Given the description of an element on the screen output the (x, y) to click on. 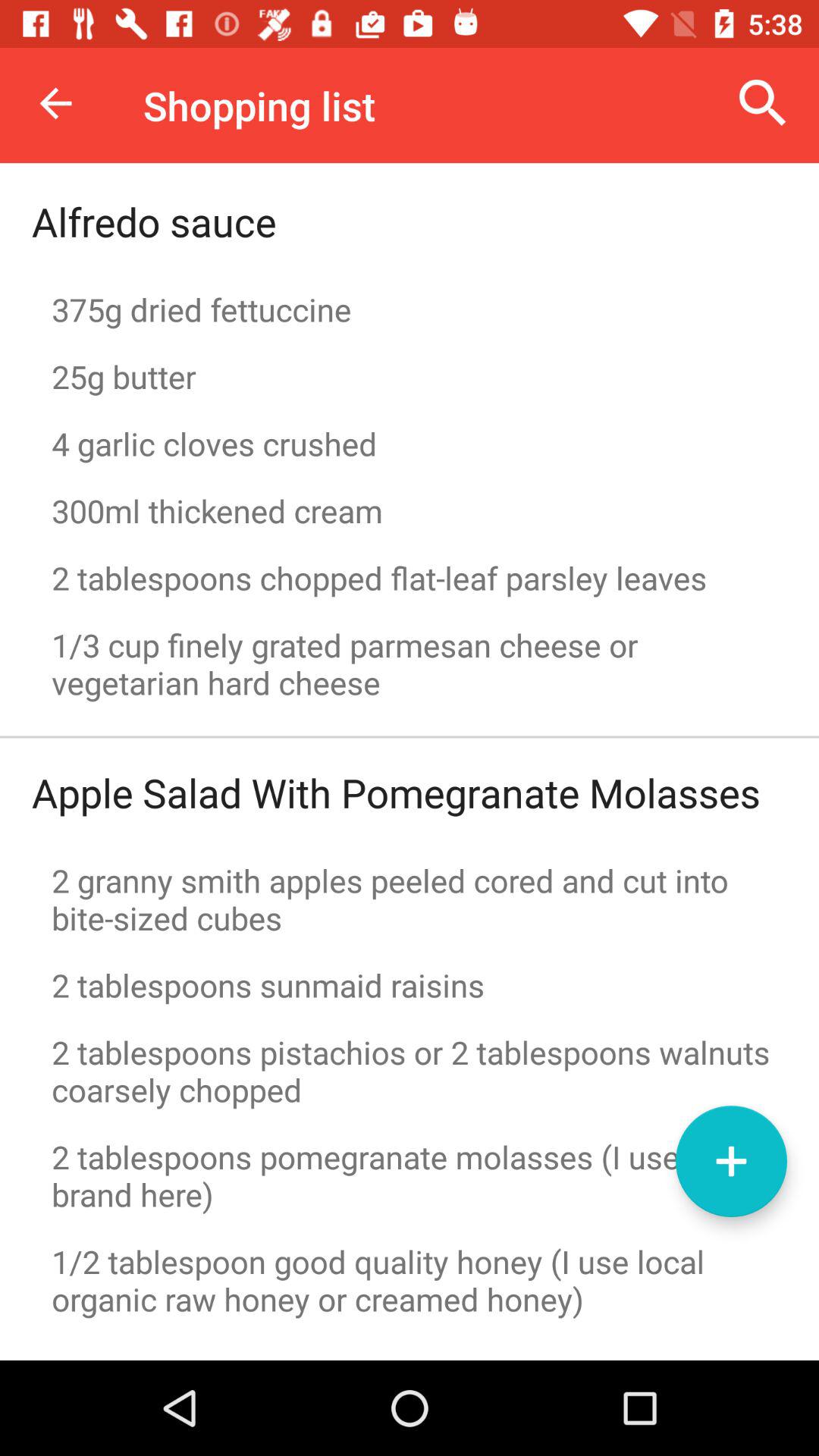
open icon above the 375g dried fettuccine item (763, 103)
